Given the description of an element on the screen output the (x, y) to click on. 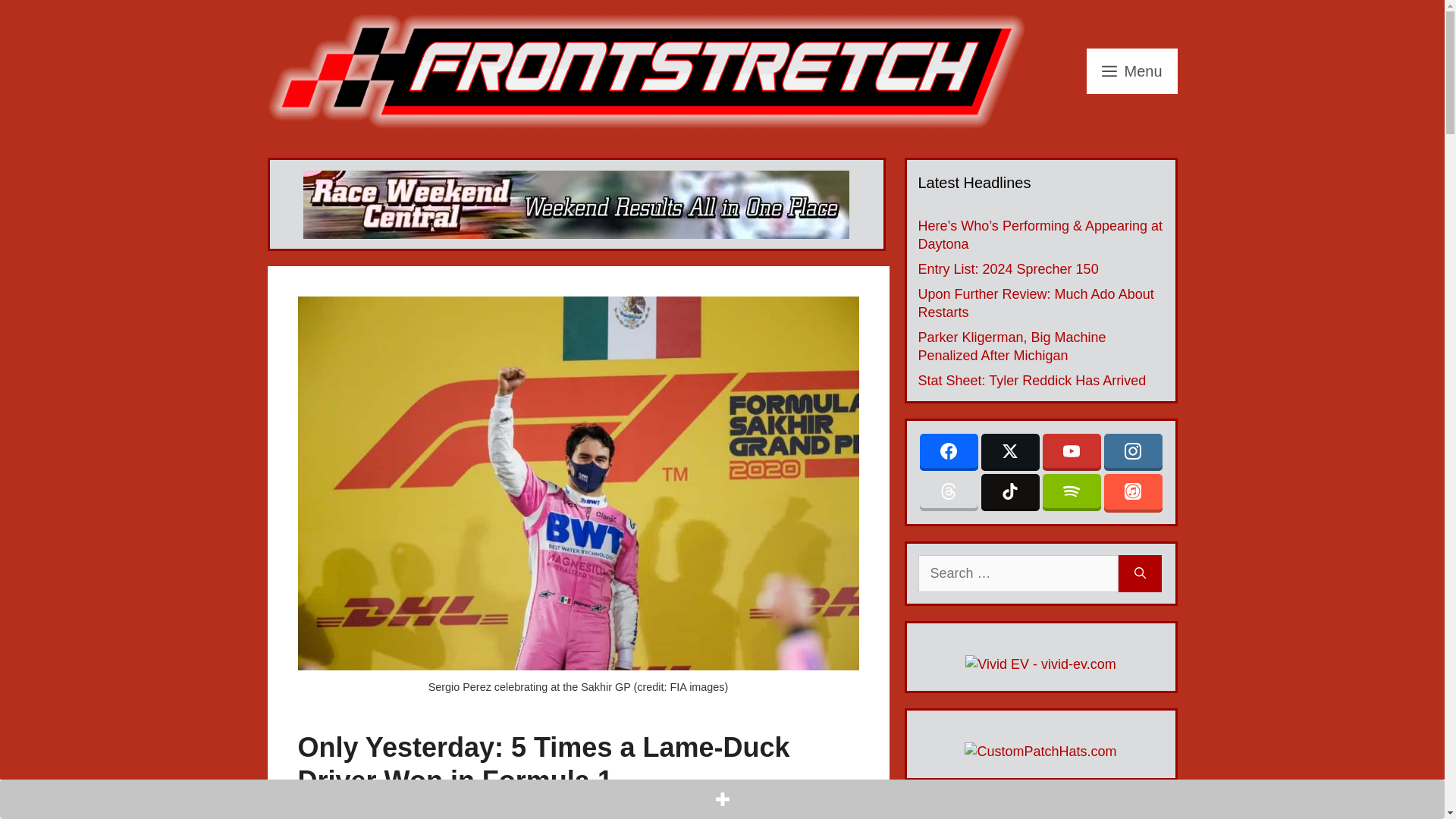
Michael Finley (418, 809)
Menu (1131, 71)
Search for: (1017, 573)
